Given the description of an element on the screen output the (x, y) to click on. 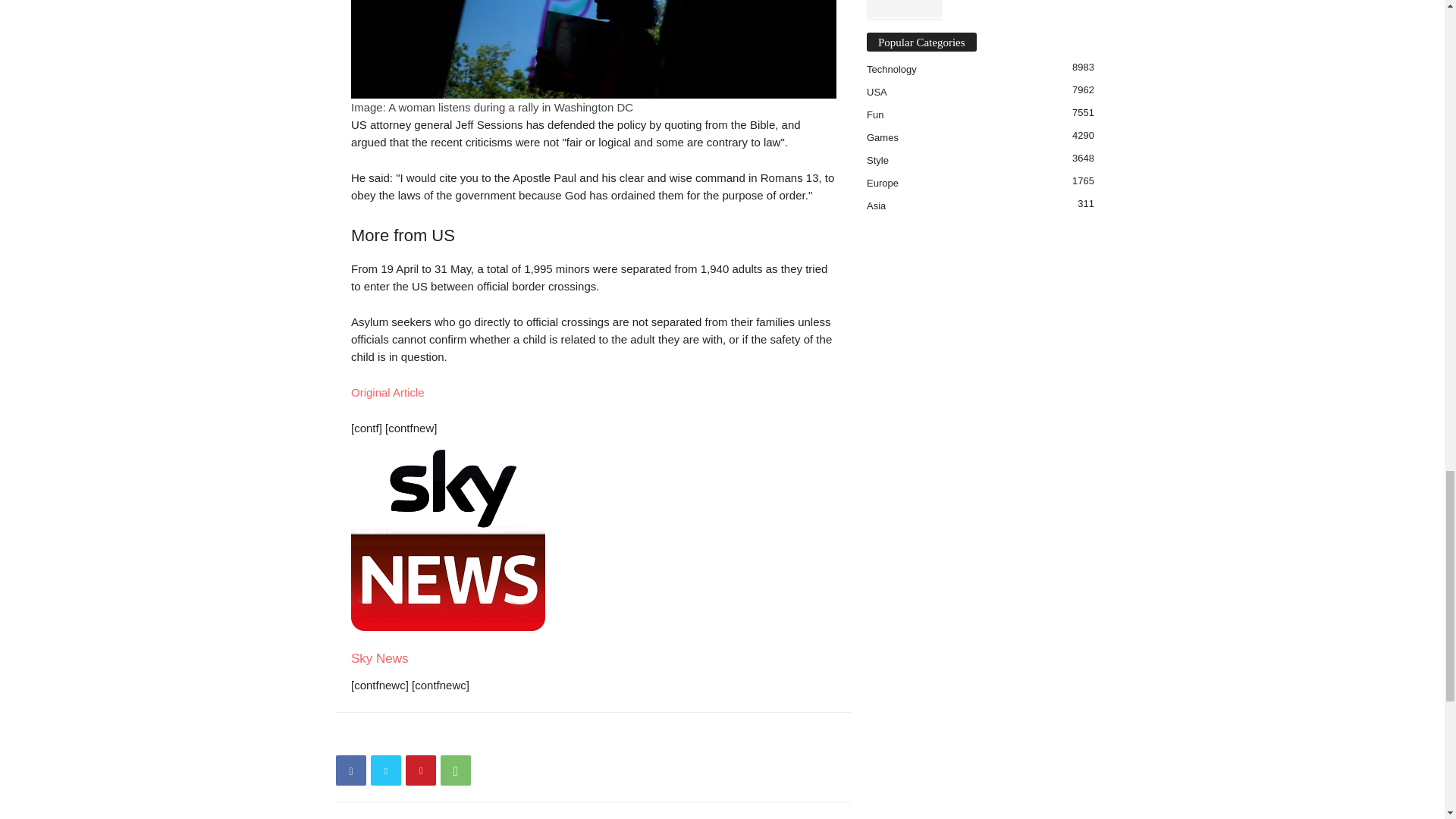
WhatsApp (455, 770)
Pinterest (420, 770)
Facebook (351, 770)
Twitter (386, 770)
